Given the description of an element on the screen output the (x, y) to click on. 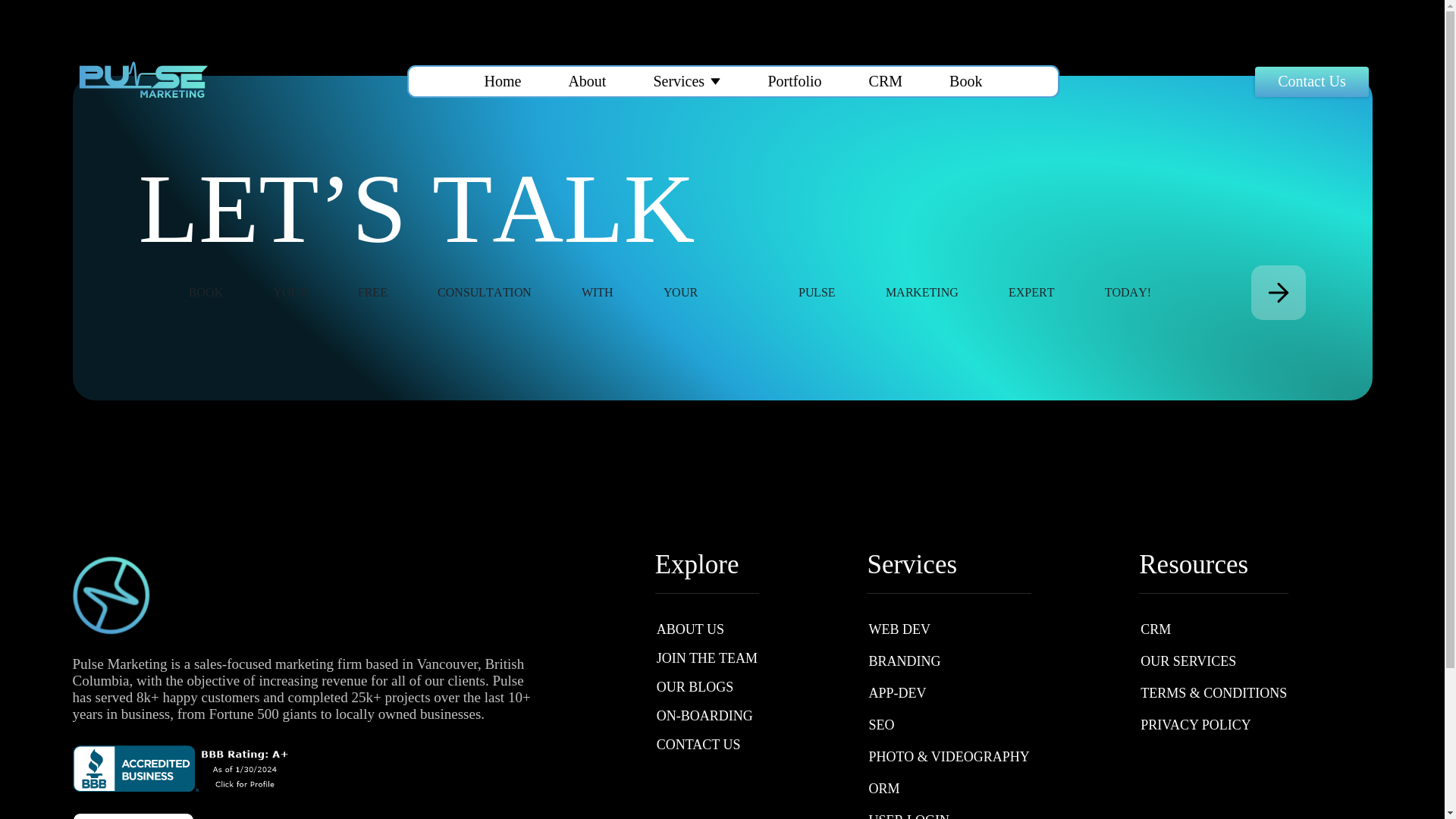
Services (678, 81)
Portfolio (794, 81)
Contact Us (1311, 81)
CRM (885, 81)
Book (965, 81)
Explore (706, 564)
Home (502, 81)
About (586, 81)
